Given the description of an element on the screen output the (x, y) to click on. 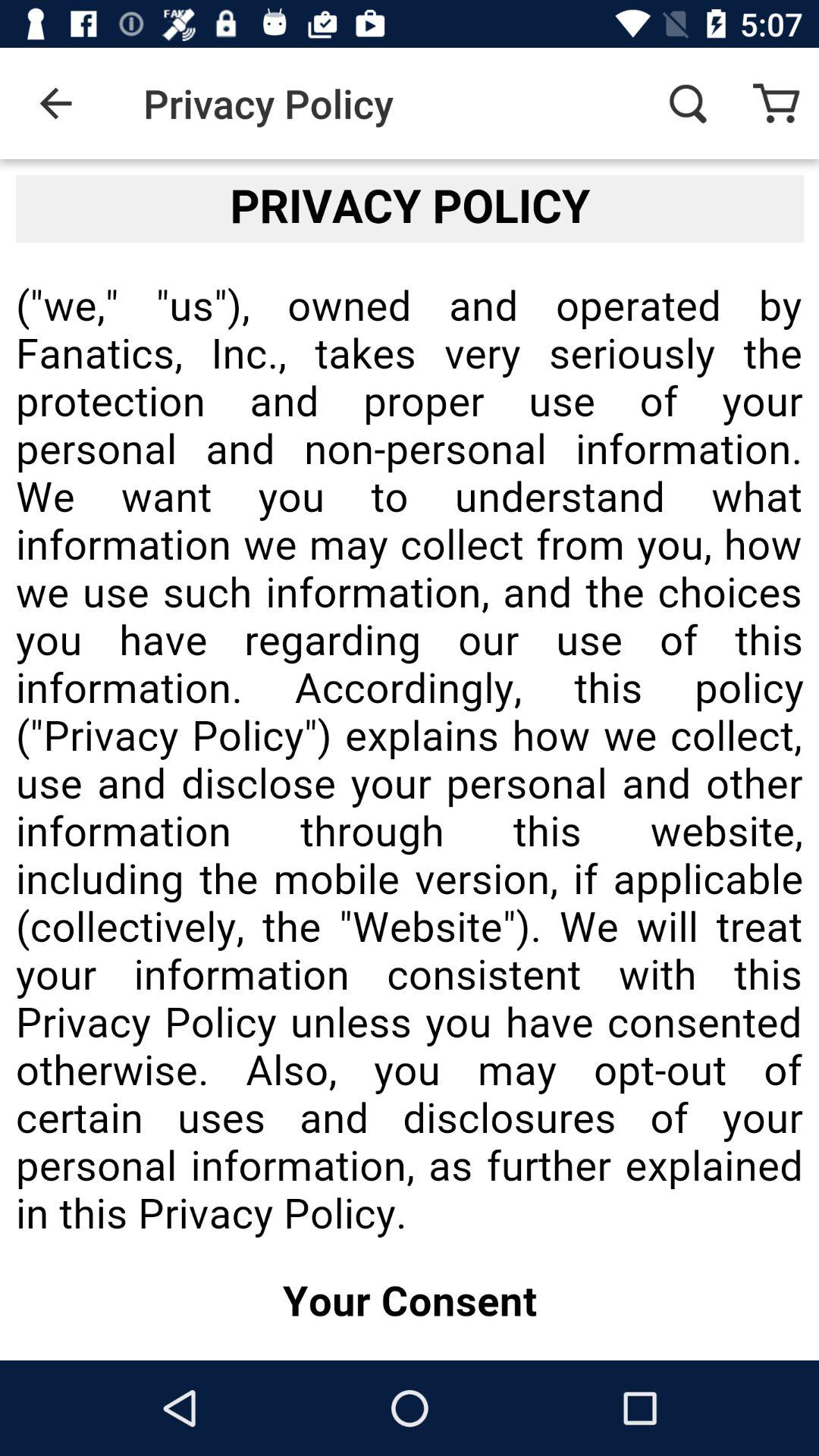
tap item at the center (409, 759)
